Given the description of an element on the screen output the (x, y) to click on. 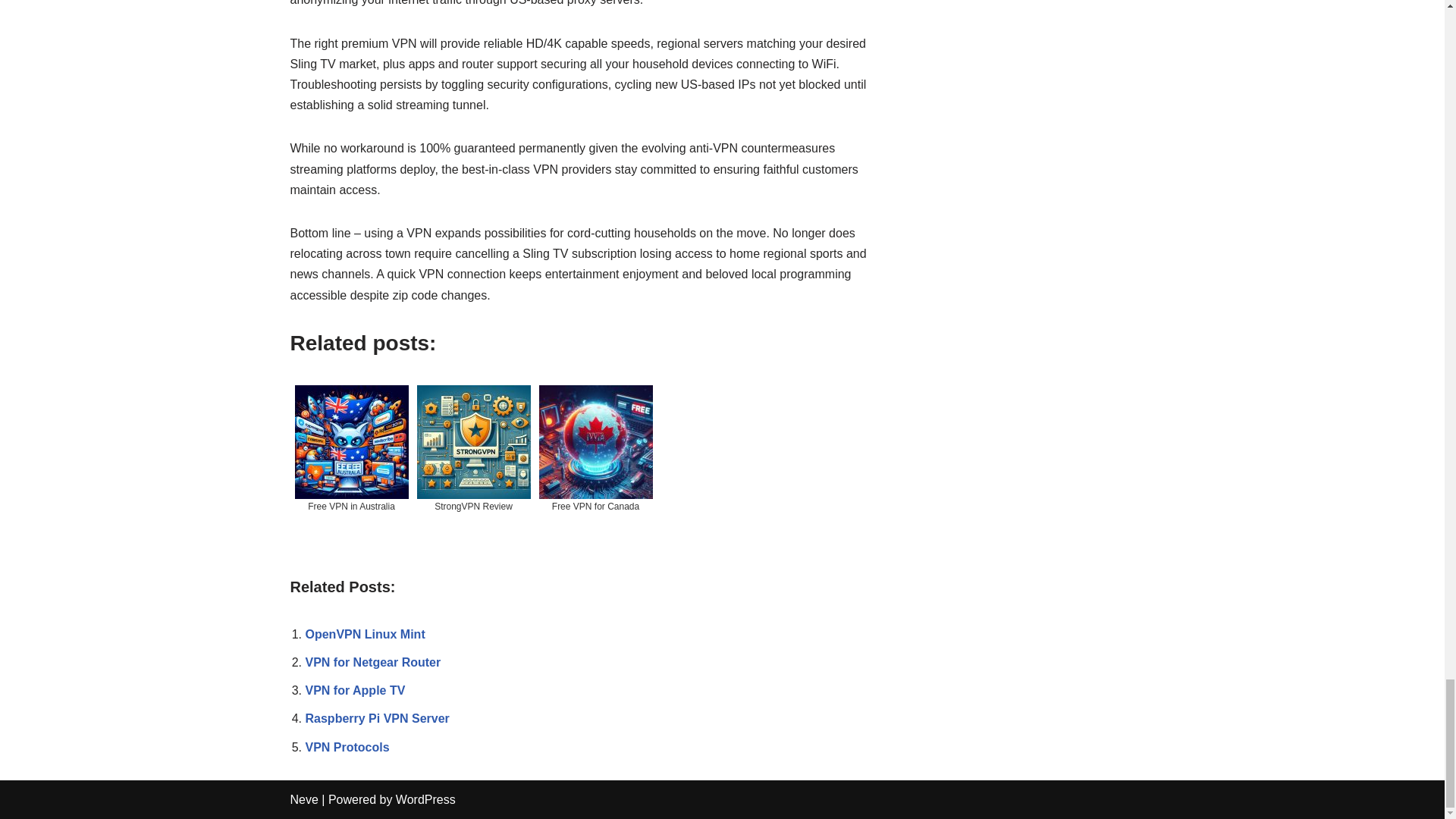
Raspberry Pi VPN Server (376, 717)
VPN for Netgear Router (372, 662)
VPN Protocols (346, 747)
OpenVPN Linux Mint (364, 634)
VPN for Apple TV (354, 689)
